Given the description of an element on the screen output the (x, y) to click on. 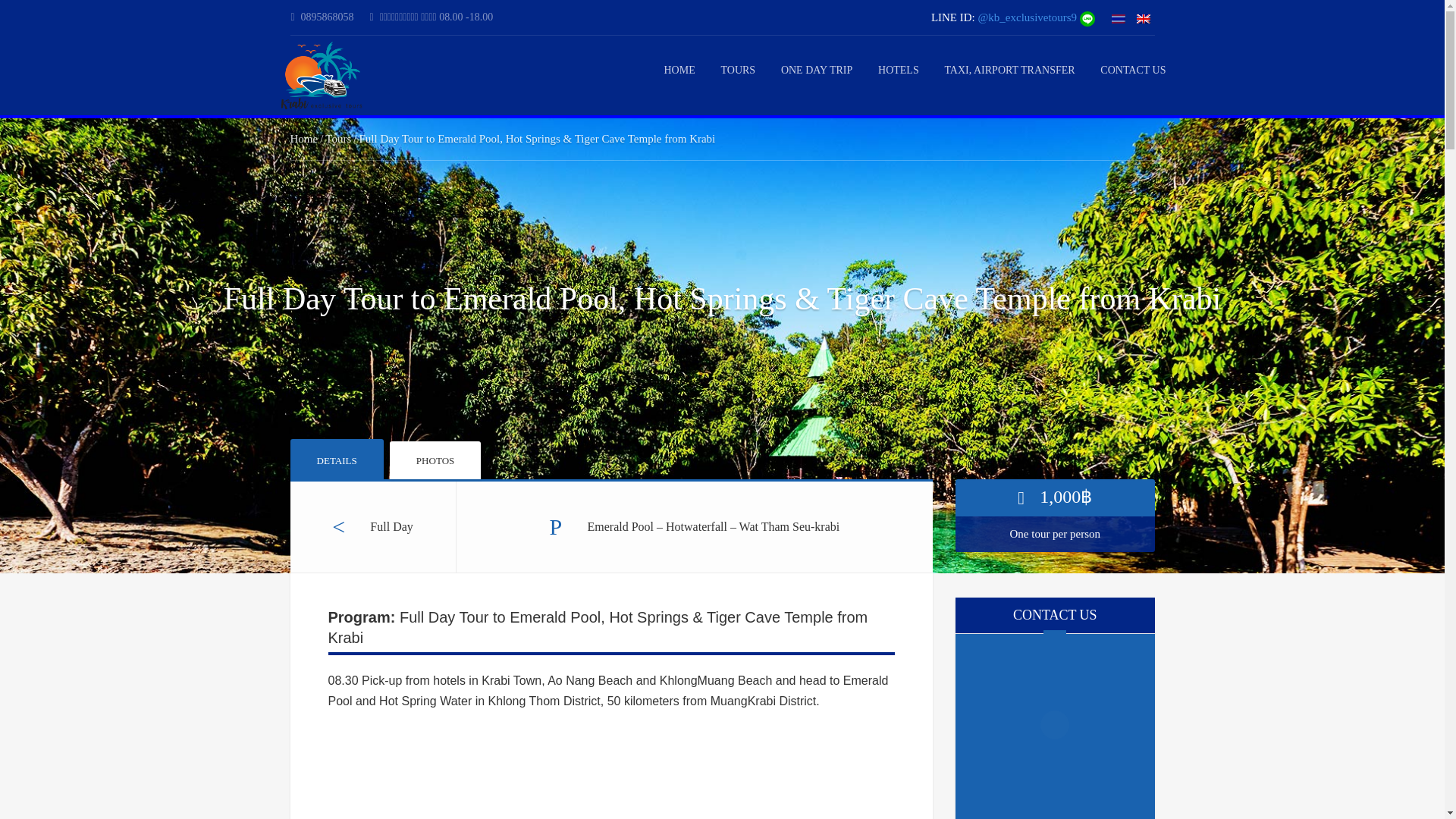
English (1142, 18)
PHOTOS (435, 460)
CONTACT US (1133, 70)
DETAILS (335, 458)
ONE DAY TRIP (815, 70)
HOTELS (897, 70)
Tours (337, 138)
Home (303, 138)
HOME (678, 70)
TOURS (737, 70)
